Given the description of an element on the screen output the (x, y) to click on. 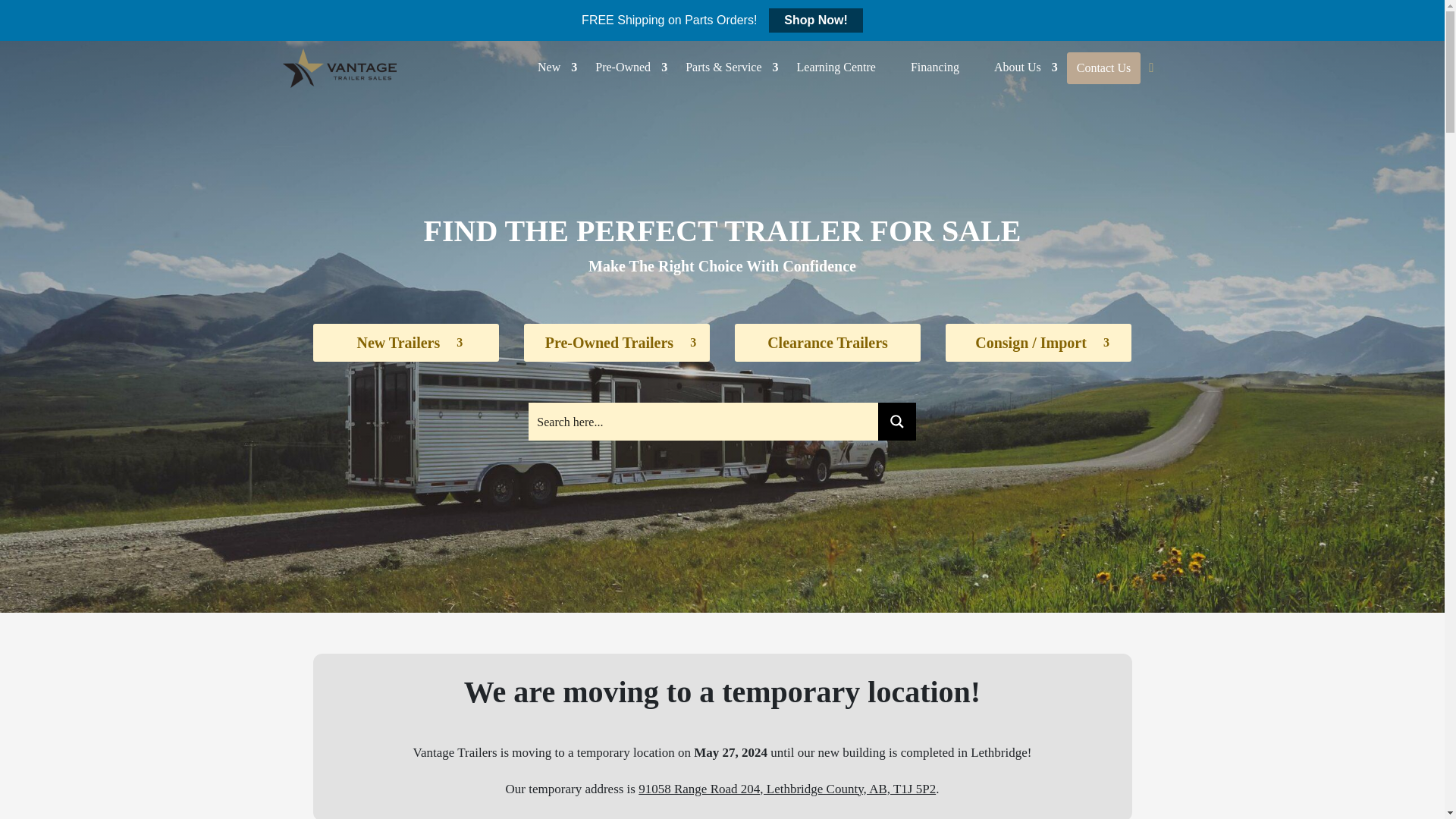
Contact Us (1104, 68)
Learning Centre (836, 67)
About Us (1017, 67)
Financing (934, 67)
Pre-Owned (622, 67)
Shop Now! (815, 20)
New (548, 67)
